Given the description of an element on the screen output the (x, y) to click on. 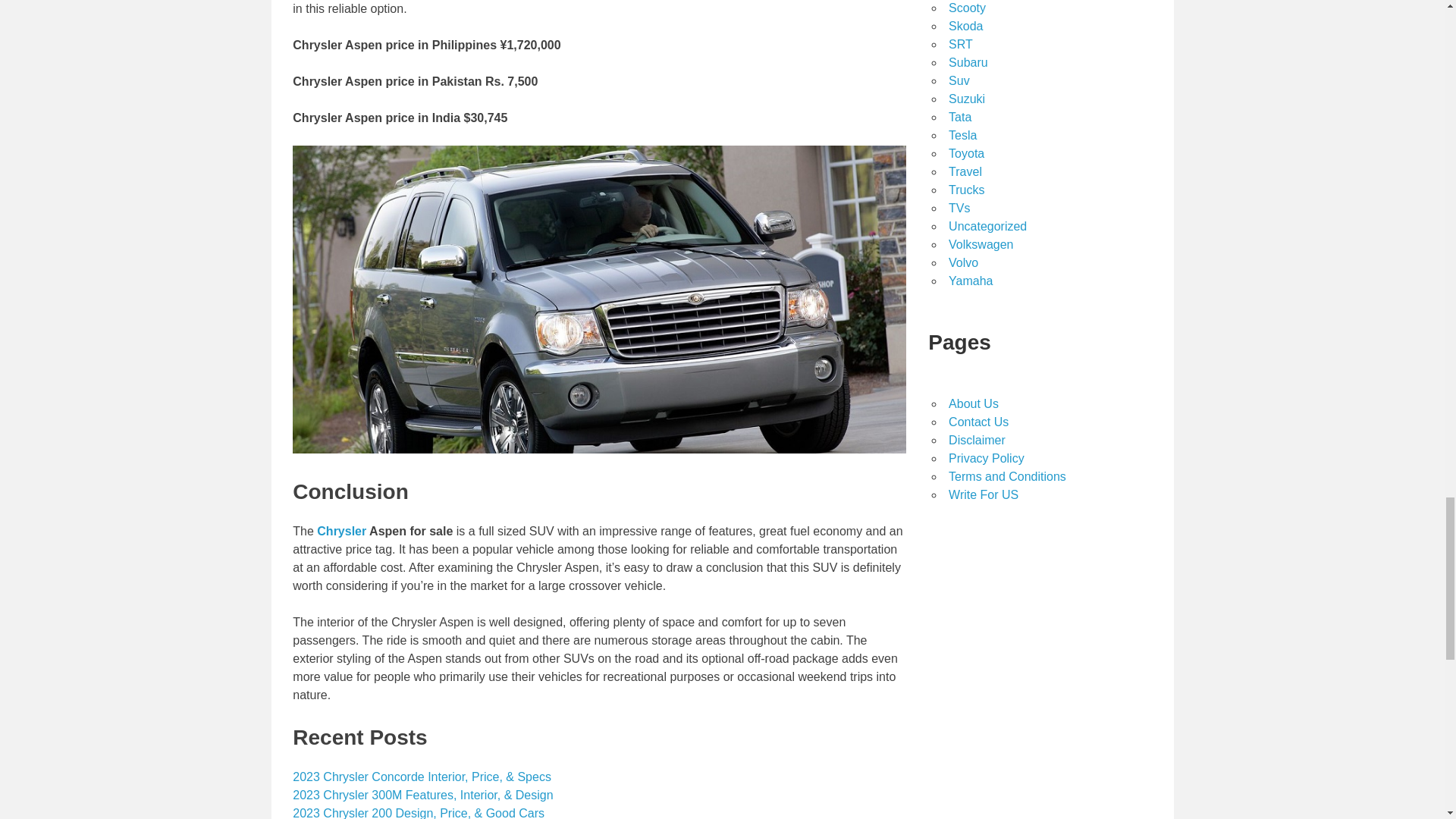
Chrysler (341, 530)
